Given the description of an element on the screen output the (x, y) to click on. 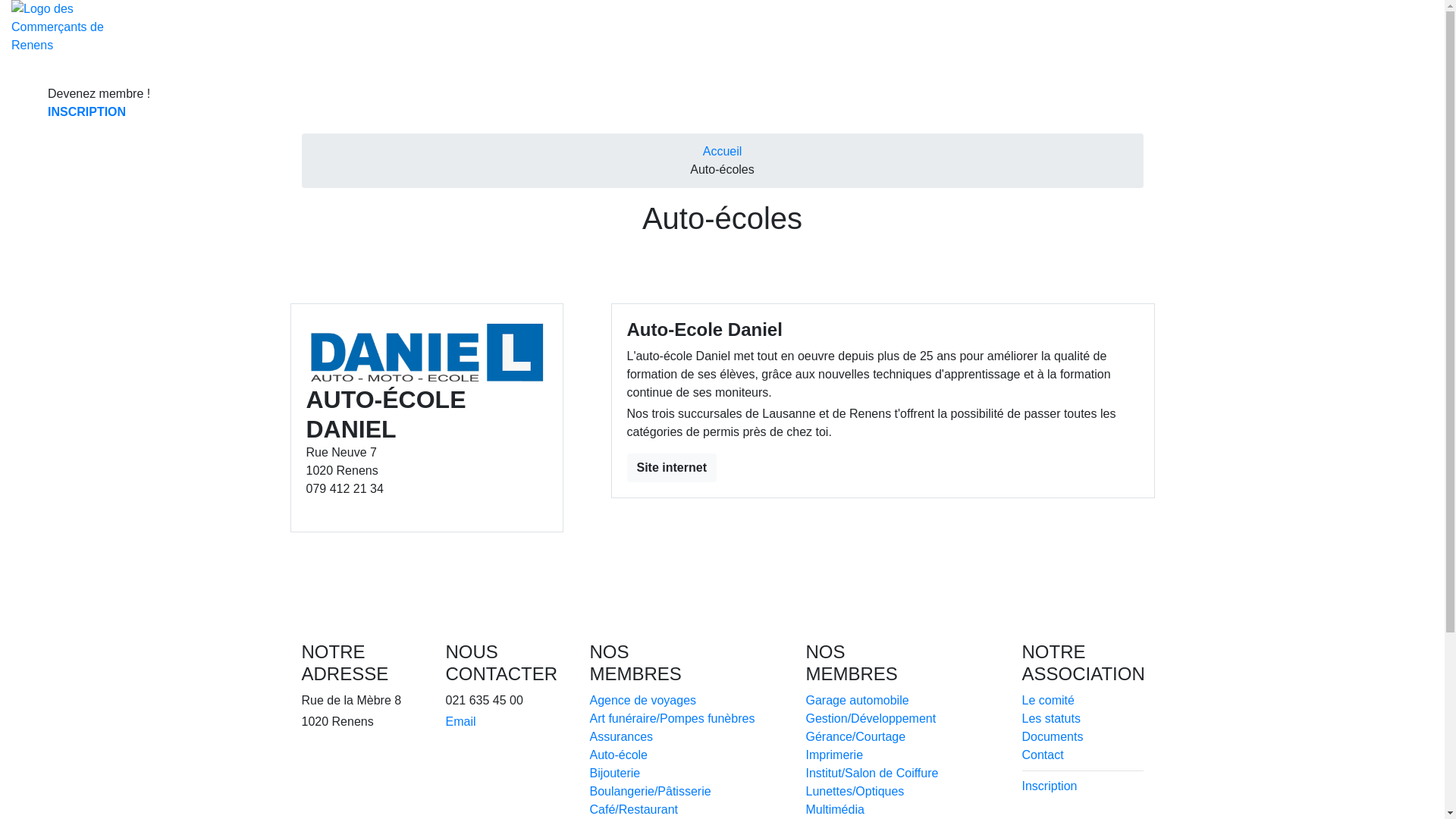
INSCRIPTION Element type: text (98, 112)
Agence de voyages Element type: text (642, 699)
Accueil Element type: text (722, 150)
Bijouterie Element type: text (614, 772)
Contact Element type: text (1042, 754)
Email Element type: text (460, 721)
Les statuts Element type: text (1051, 718)
Imprimerie Element type: text (833, 754)
Lunettes/Optiques Element type: text (854, 790)
Site internet Element type: text (670, 467)
Assurances Element type: text (621, 736)
Institut/Salon de Coiffure Element type: text (871, 772)
Garage automobile Element type: text (856, 699)
Documents Element type: text (1052, 736)
Inscription Element type: text (1049, 785)
